Given the description of an element on the screen output the (x, y) to click on. 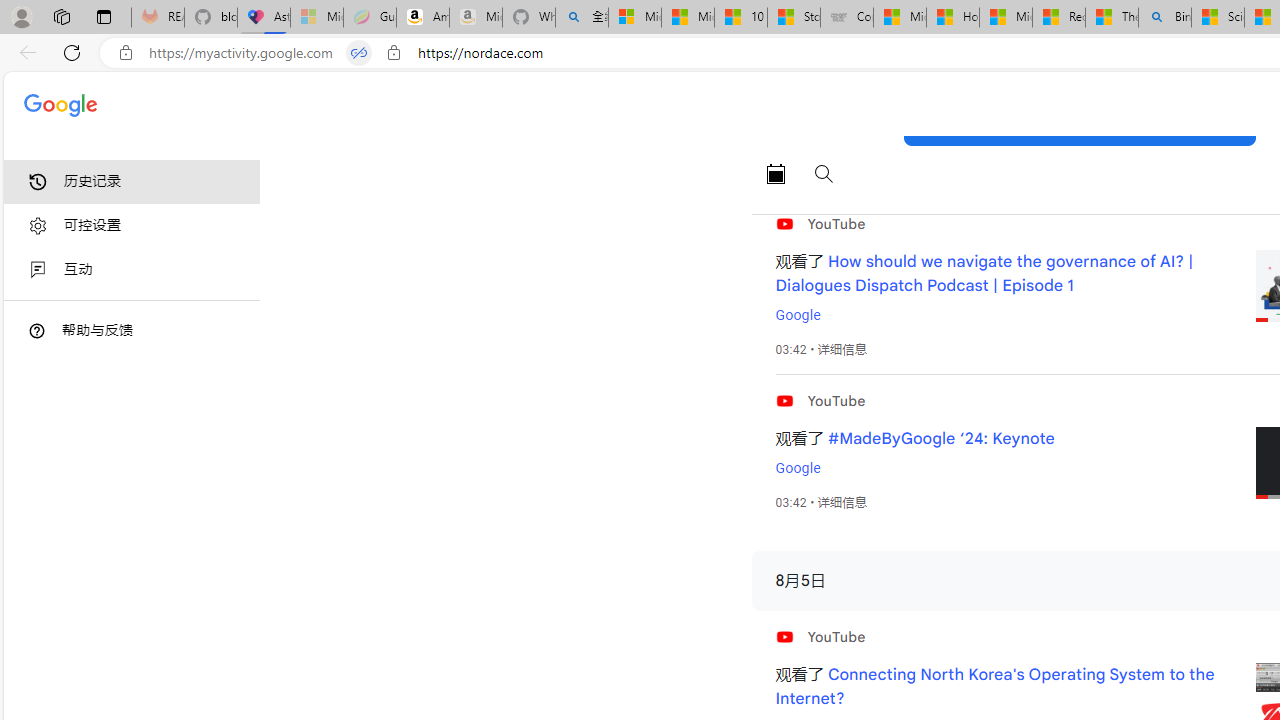
Class: i2GIId (38, 269)
Class: DTiKkd NMm5M (37, 330)
